Given the description of an element on the screen output the (x, y) to click on. 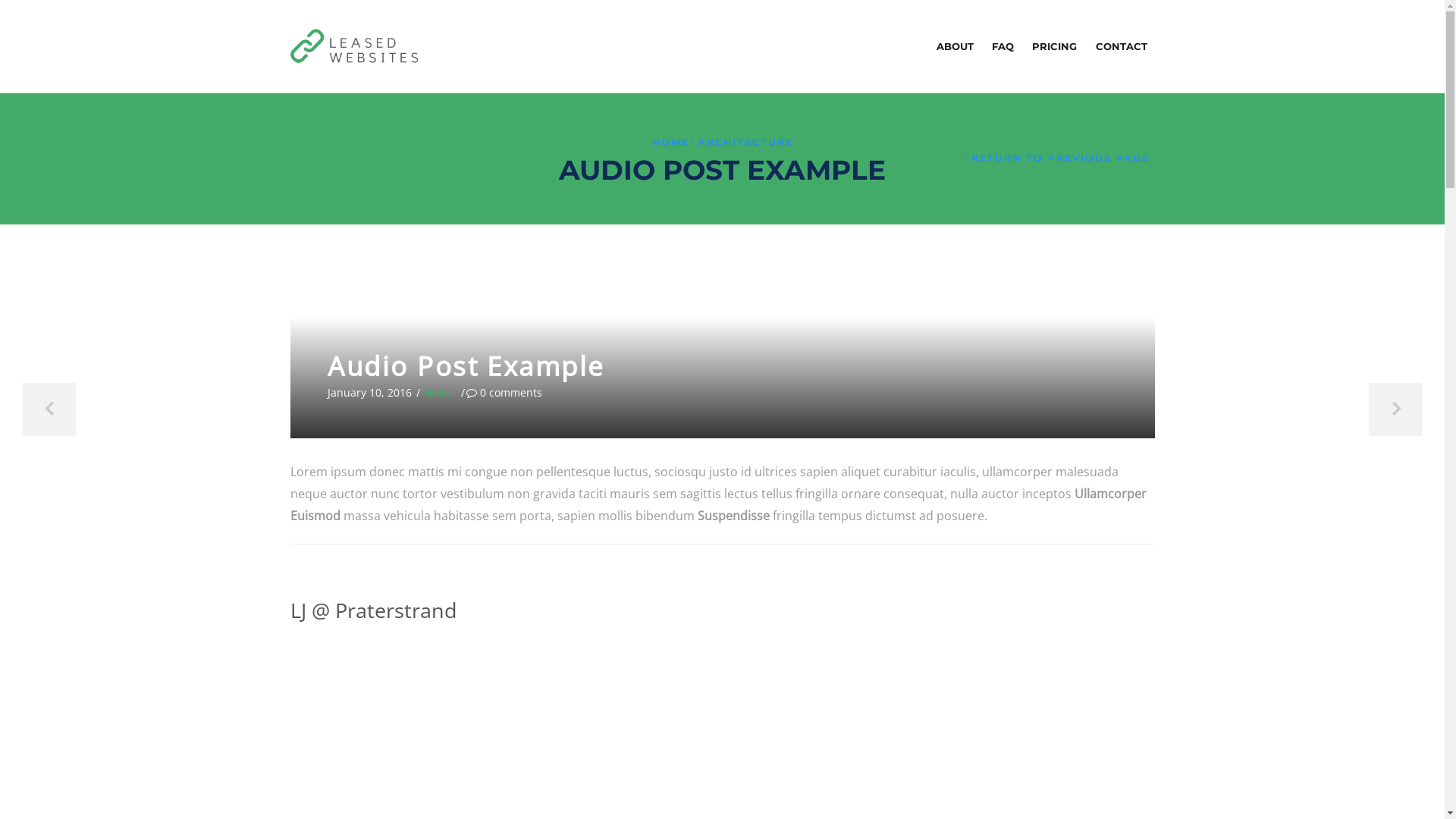
ARCHITECTURE Element type: text (744, 141)
0 comments Element type: text (504, 392)
FAQ Element type: text (1002, 46)
PRICING Element type: text (1054, 46)
CONTACT Element type: text (1120, 46)
NEXT Element type: text (1394, 409)
RETURN TO PREVIOUS PAGE Element type: text (1056, 158)
PREVIOUS Element type: text (48, 409)
ABOUT Element type: text (954, 46)
HOME Element type: text (669, 141)
